Given the description of an element on the screen output the (x, y) to click on. 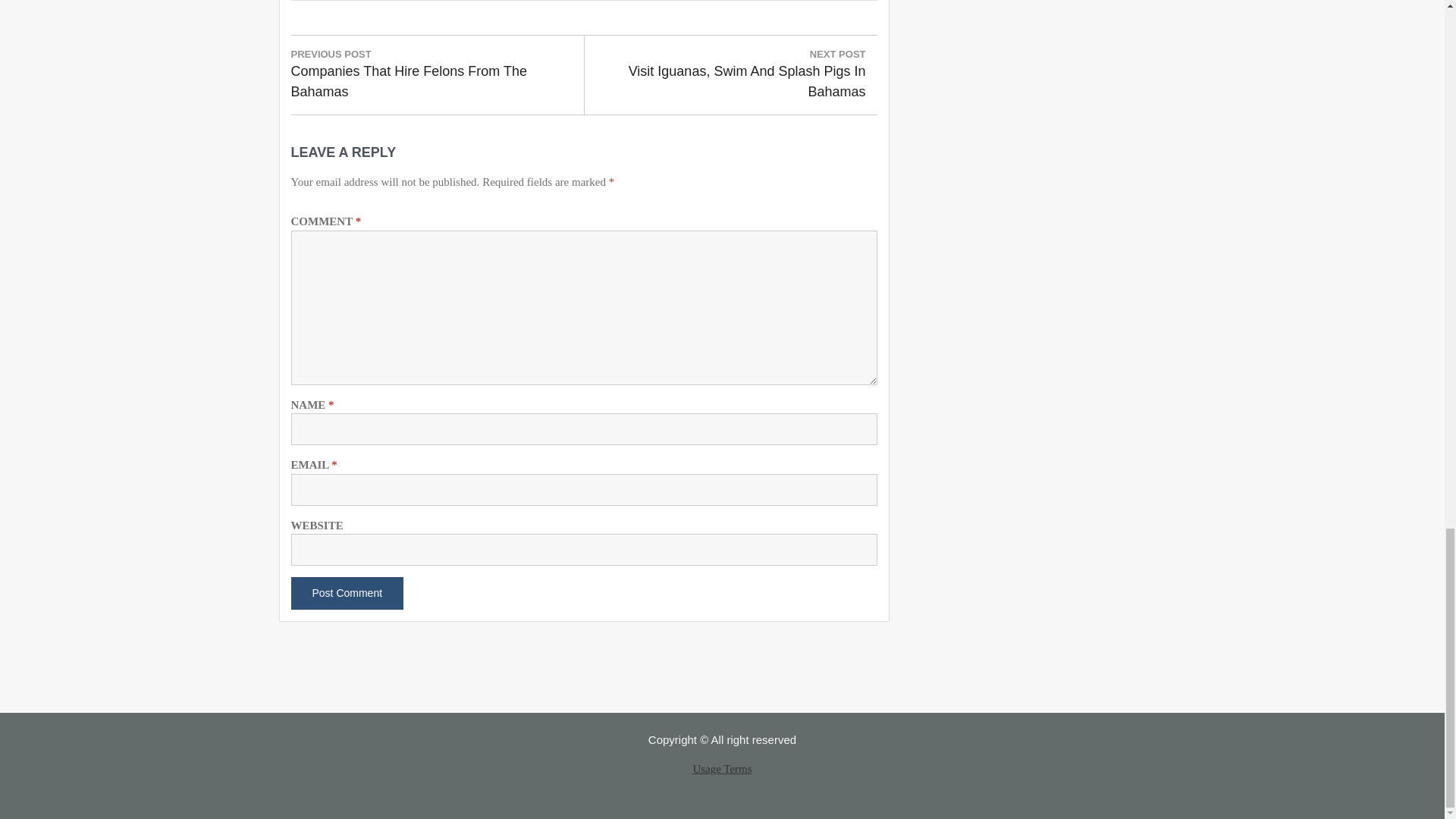
Post Comment (347, 593)
Post Comment (347, 593)
